Given the description of an element on the screen output the (x, y) to click on. 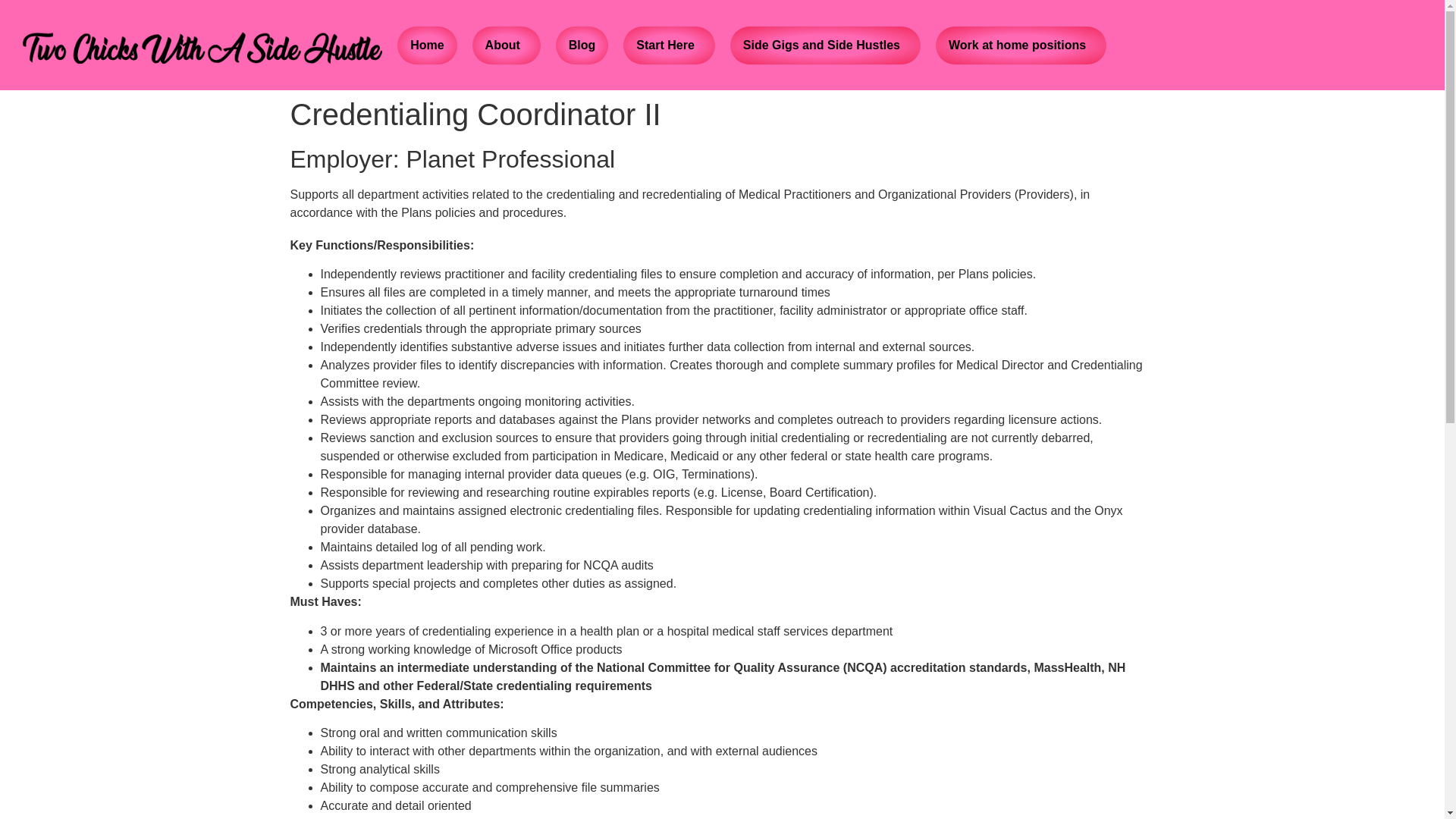
Start Here (668, 45)
Work at home positions (1021, 45)
Home (426, 45)
About (506, 45)
Side Gigs and Side Hustles (825, 45)
Blog (582, 45)
